Given the description of an element on the screen output the (x, y) to click on. 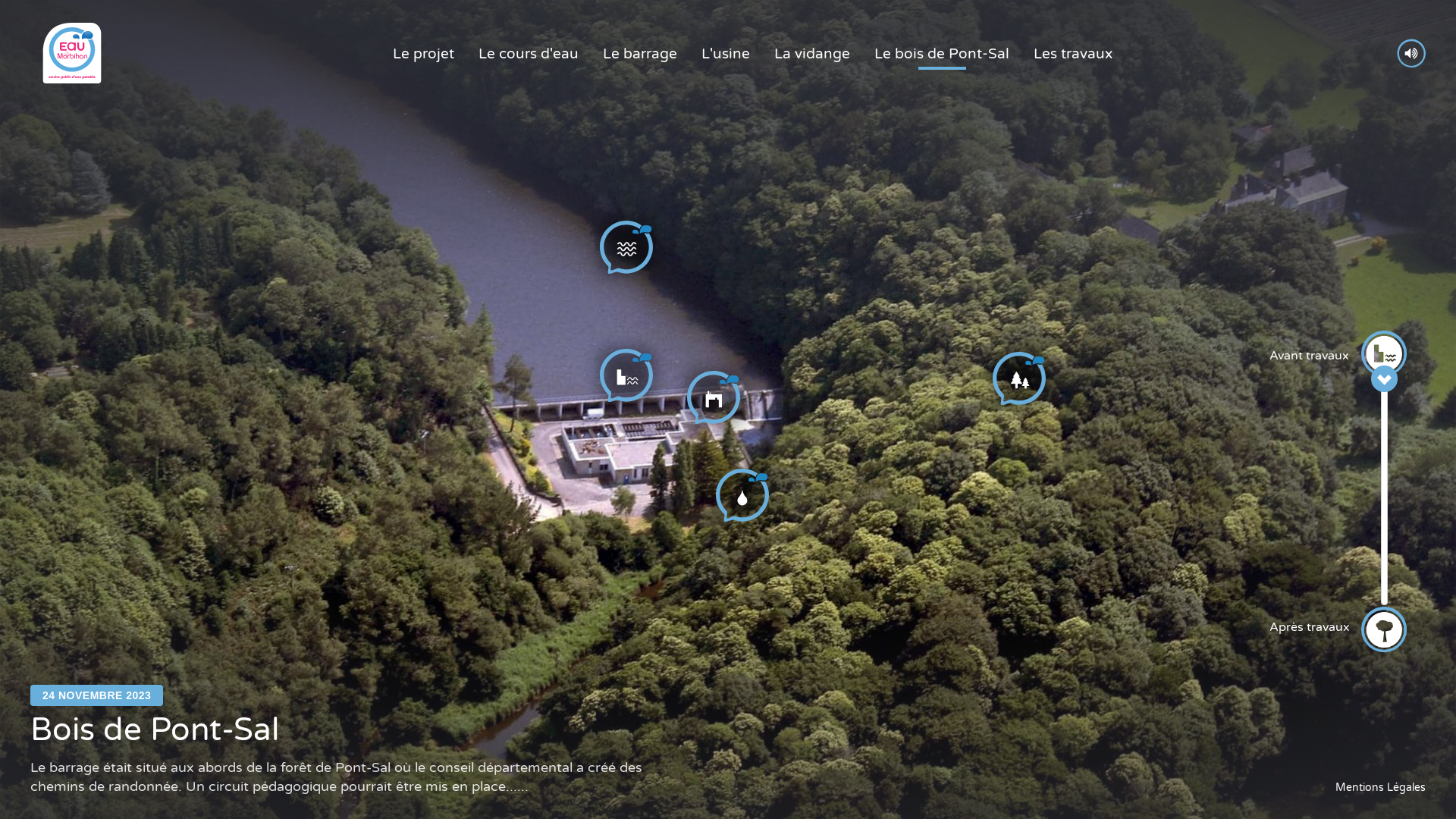
Le cours d'eau Element type: text (528, 54)
Charme commun Element type: text (1029, 770)
Le projet Element type: text (423, 54)
Les travaux Element type: text (1072, 54)
Le barrage Element type: text (639, 54)
Le bois de Pont-Sal Element type: text (941, 54)
Pin de Monterey Element type: text (1026, 787)
Tulipier de Virginie Element type: text (1031, 669)
La vidange Element type: text (812, 54)
L'usine Element type: text (725, 54)
